Given the description of an element on the screen output the (x, y) to click on. 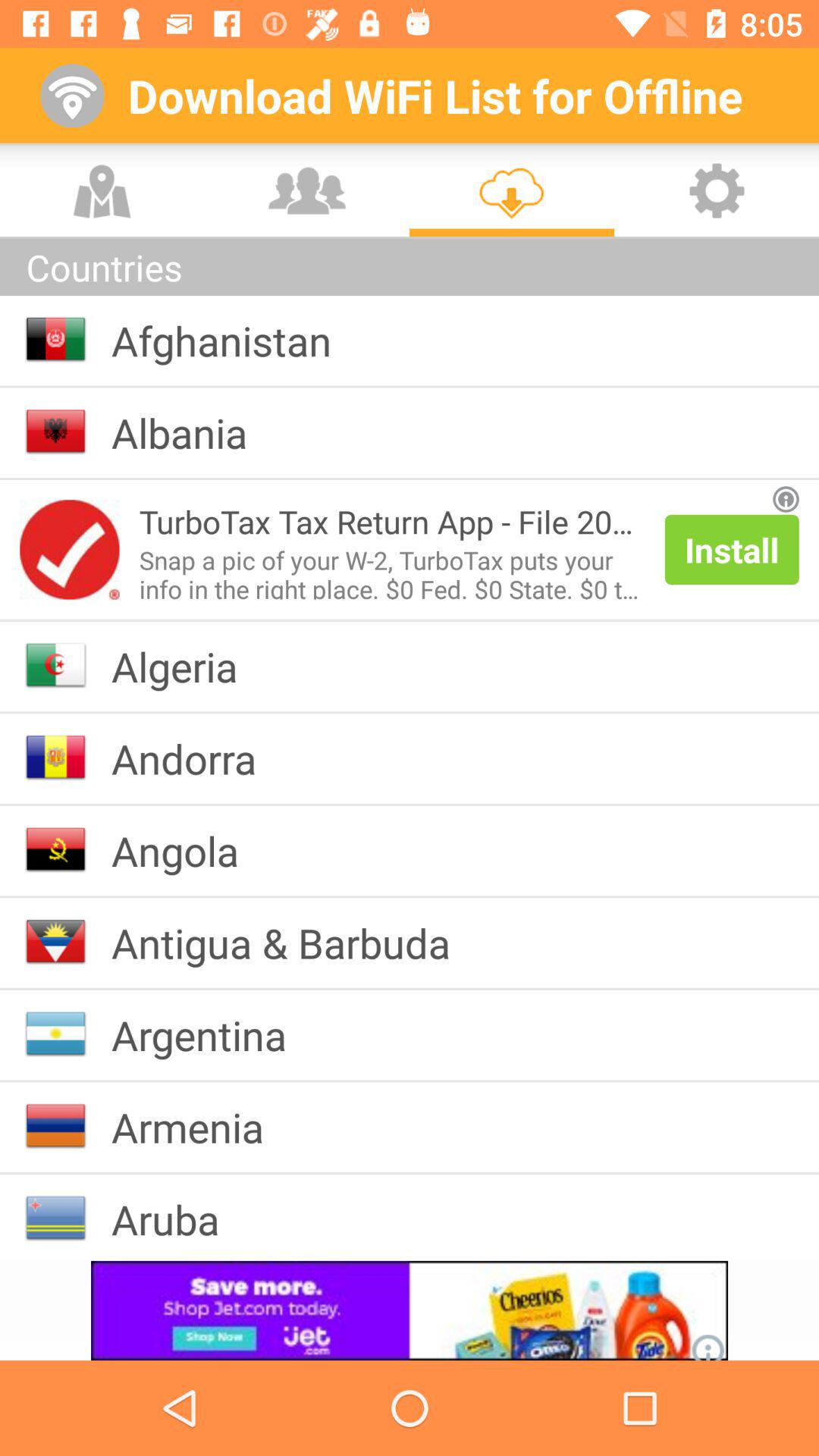
use tax app (69, 549)
